Given the description of an element on the screen output the (x, y) to click on. 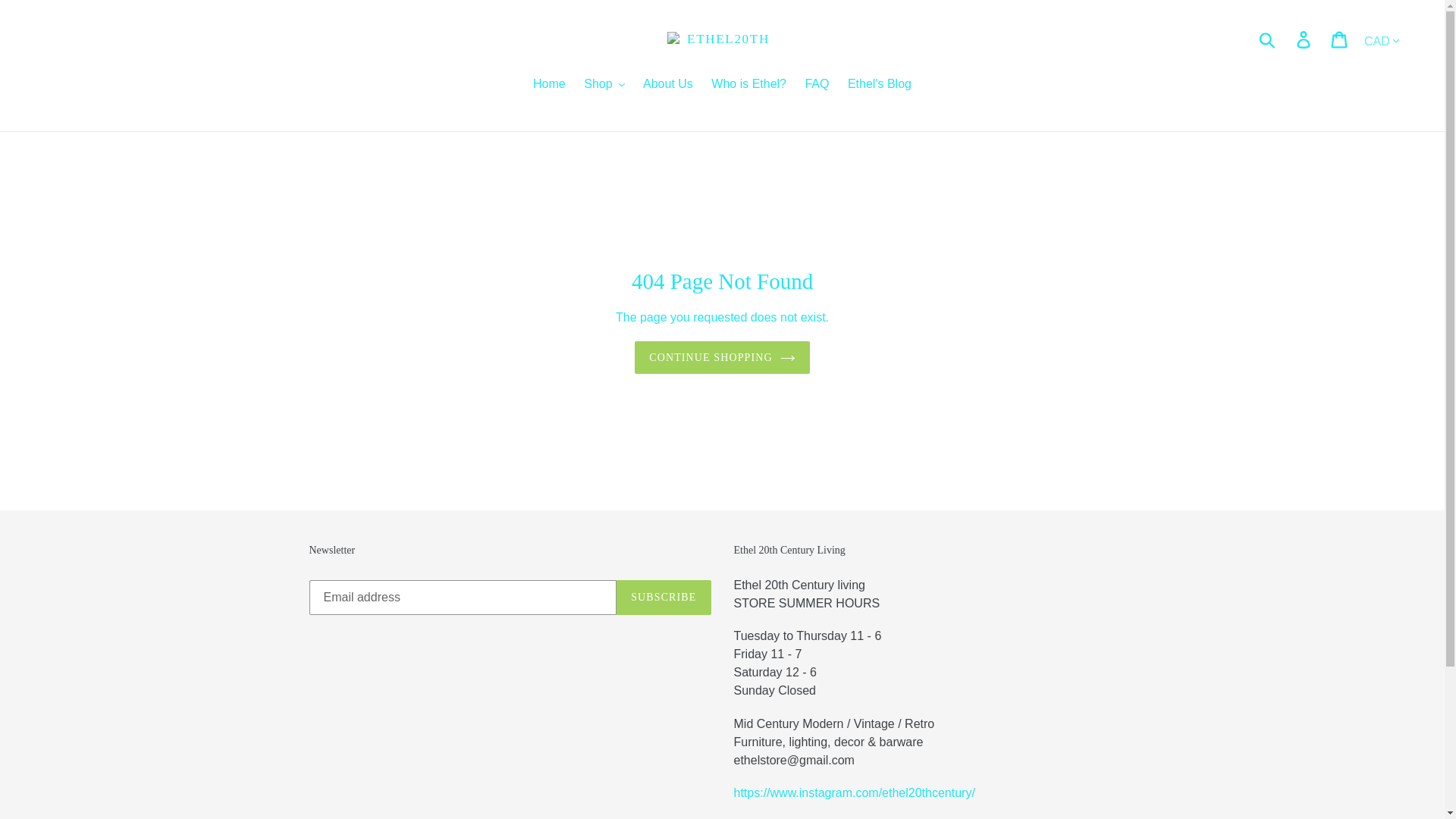
Submit (1268, 39)
Log in (1304, 39)
Home (549, 85)
Cart (1340, 39)
